Given the description of an element on the screen output the (x, y) to click on. 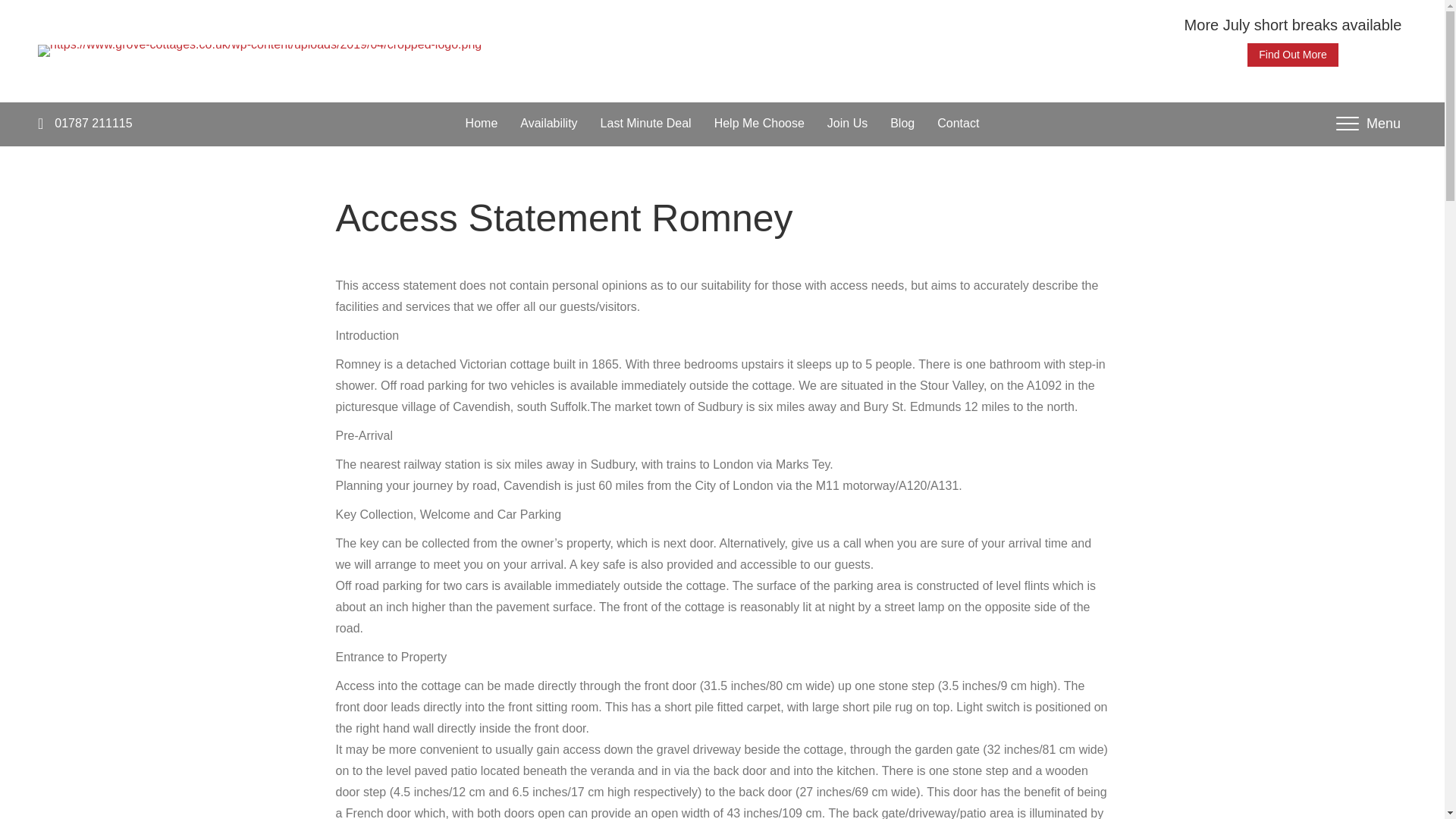
More July short breaks available (1292, 54)
Help Me Choose (759, 123)
Join Us (847, 123)
Home (481, 123)
More July short breaks available (1293, 24)
Availability (548, 123)
More July short breaks available (1292, 54)
01787 211115 (1293, 24)
Last Minute Deal (93, 123)
Blog (645, 123)
cropped-logo.png (901, 123)
Menu (259, 50)
Contact (1368, 123)
